Given the description of an element on the screen output the (x, y) to click on. 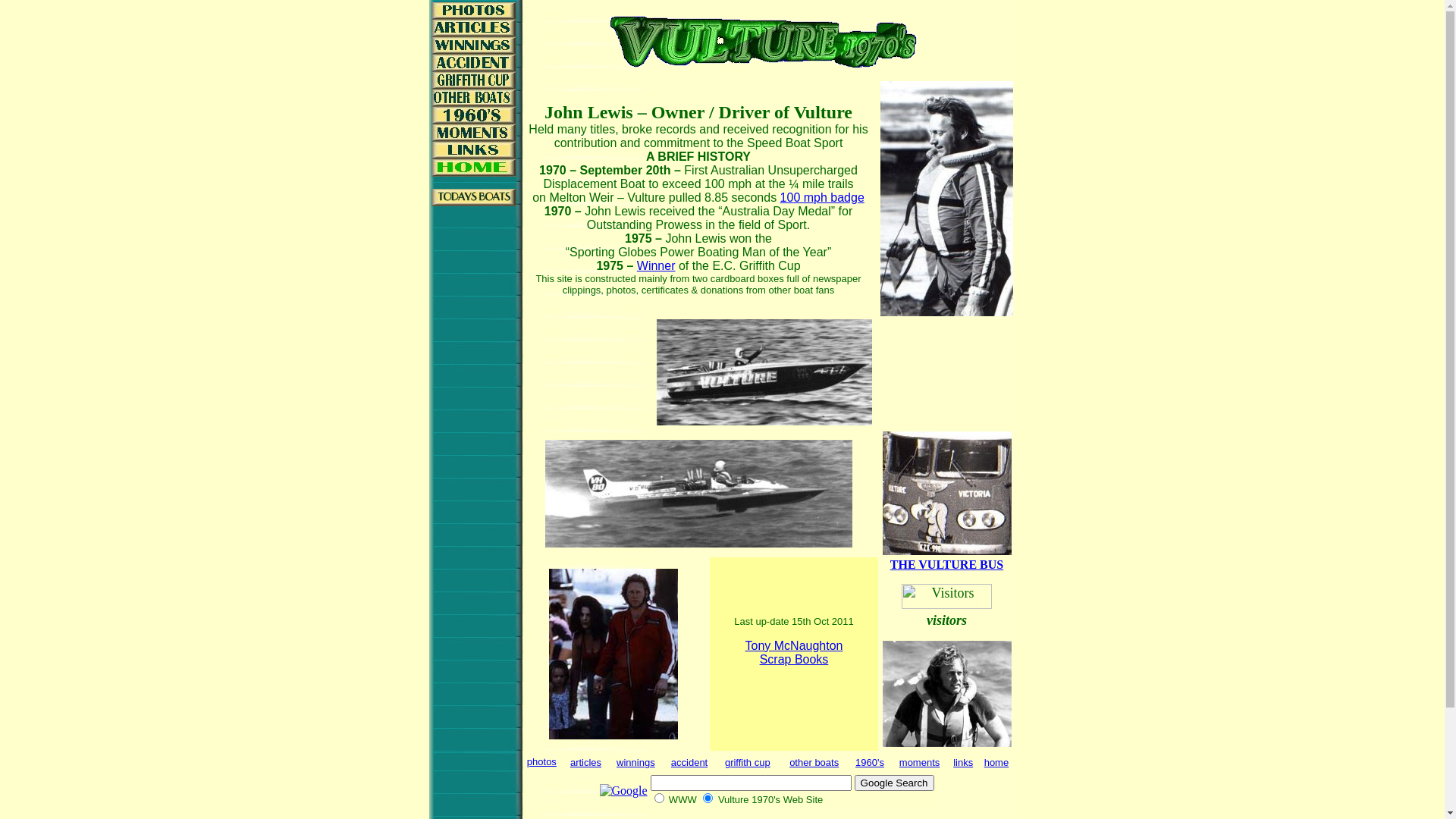
other boats Element type: text (813, 762)
100 mph badge Element type: text (822, 197)
griffith cup Element type: text (747, 762)
articles Element type: text (585, 762)
home Element type: text (996, 762)
Winner Element type: text (656, 265)
THE VULTURE BUS Element type: text (946, 564)
Tony McNaughton
Scrap Books Element type: text (794, 652)
Google Search Element type: text (894, 782)
photos Element type: text (541, 760)
1960's Element type: text (869, 762)
winnings Element type: text (635, 762)
accident Element type: text (689, 762)
moments Element type: text (919, 762)
links Element type: text (962, 762)
